Given the description of an element on the screen output the (x, y) to click on. 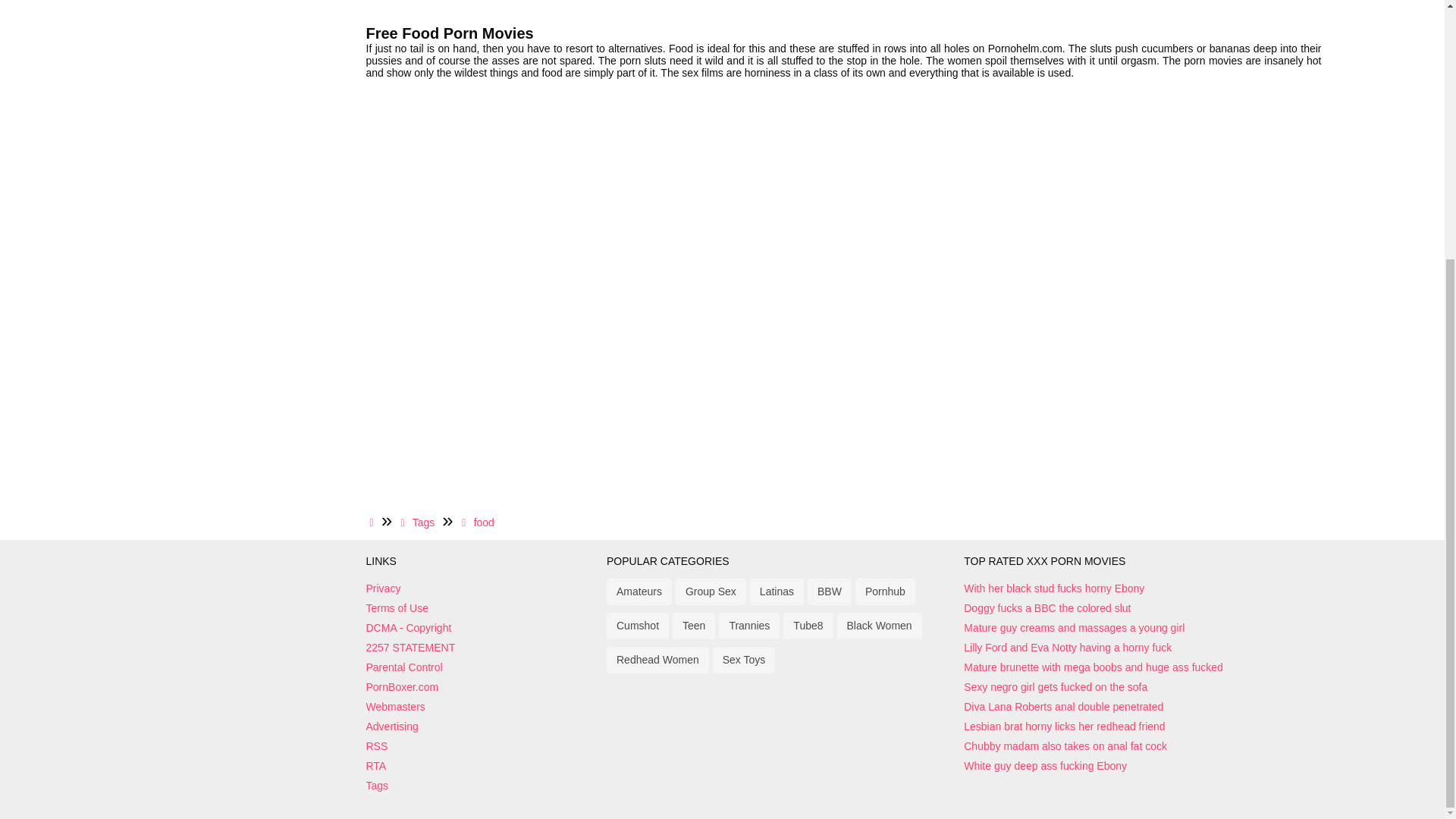
Privacy (481, 588)
Group Sex (710, 591)
Privacy (481, 588)
RSS (481, 746)
Porn Boxer (481, 686)
Terms of Use (481, 607)
food (477, 522)
RTA (481, 766)
Advertising (481, 726)
RSS Feed (481, 746)
Terms of Use (481, 607)
2257 STATEMENT (481, 647)
Parental Control (481, 666)
Parental Control (481, 666)
